Given the description of an element on the screen output the (x, y) to click on. 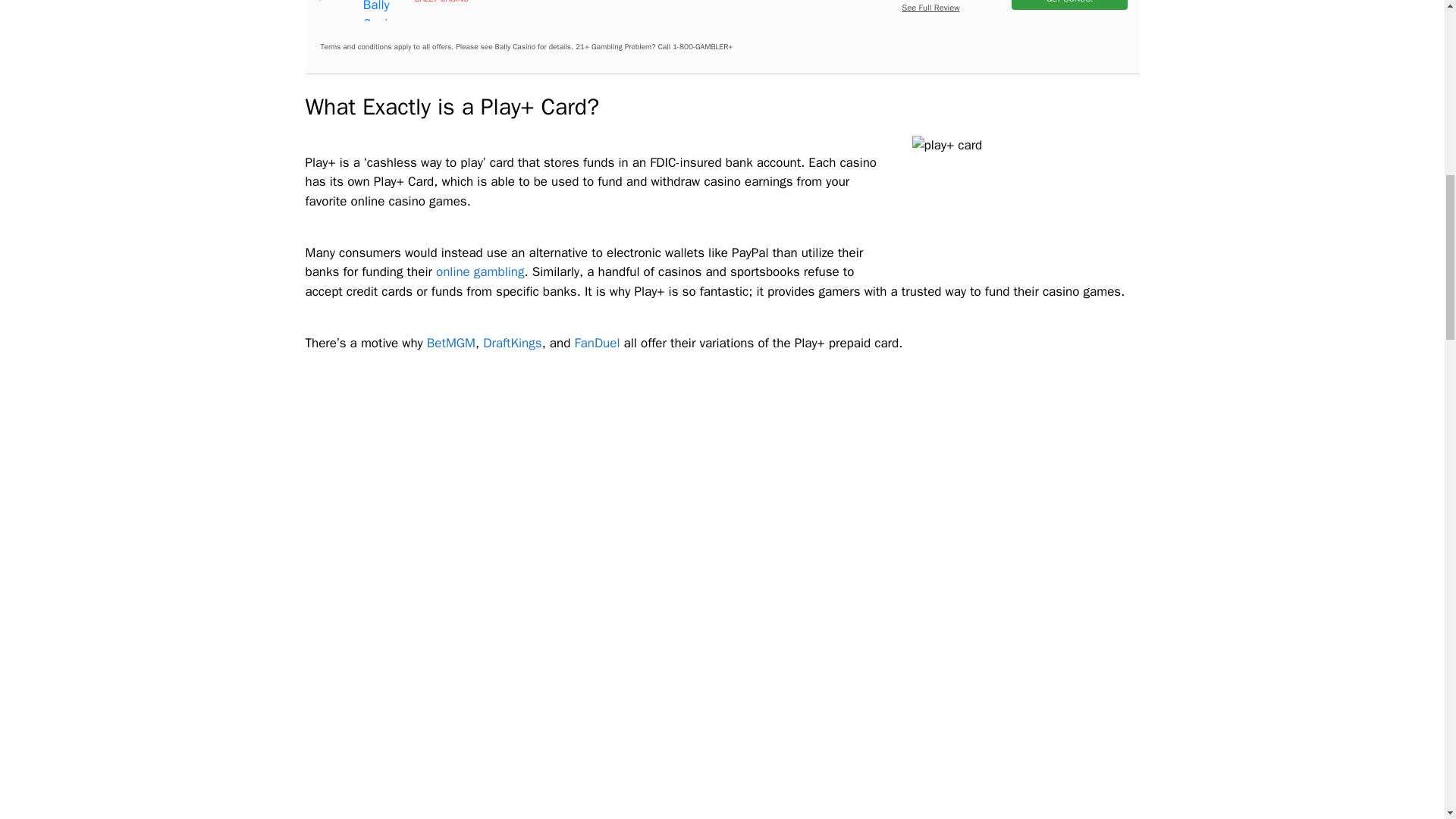
PA - Bally Casino (385, 10)
